Given the description of an element on the screen output the (x, y) to click on. 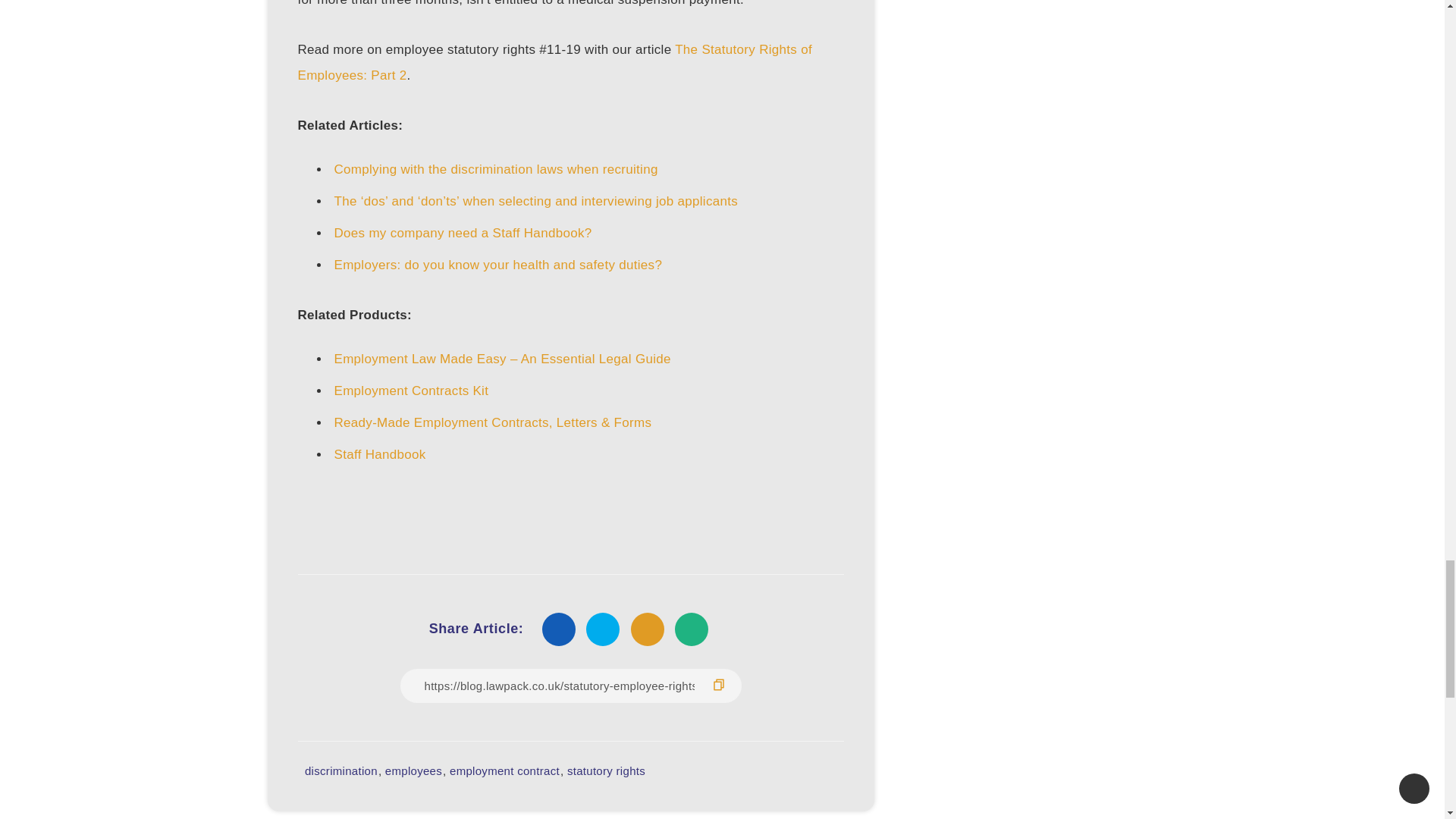
Does my company need a Staff Handbook? (462, 233)
The Statutory Rights of Employees: Part 2 (553, 62)
employment contract (504, 770)
Complying with the discrimination laws when recruiting (495, 169)
discrimination (340, 770)
Employment Contracts Kit (410, 391)
Staff Handbook (379, 454)
Employers: do you know your health and safety duties? (497, 264)
employees (413, 770)
